Given the description of an element on the screen output the (x, y) to click on. 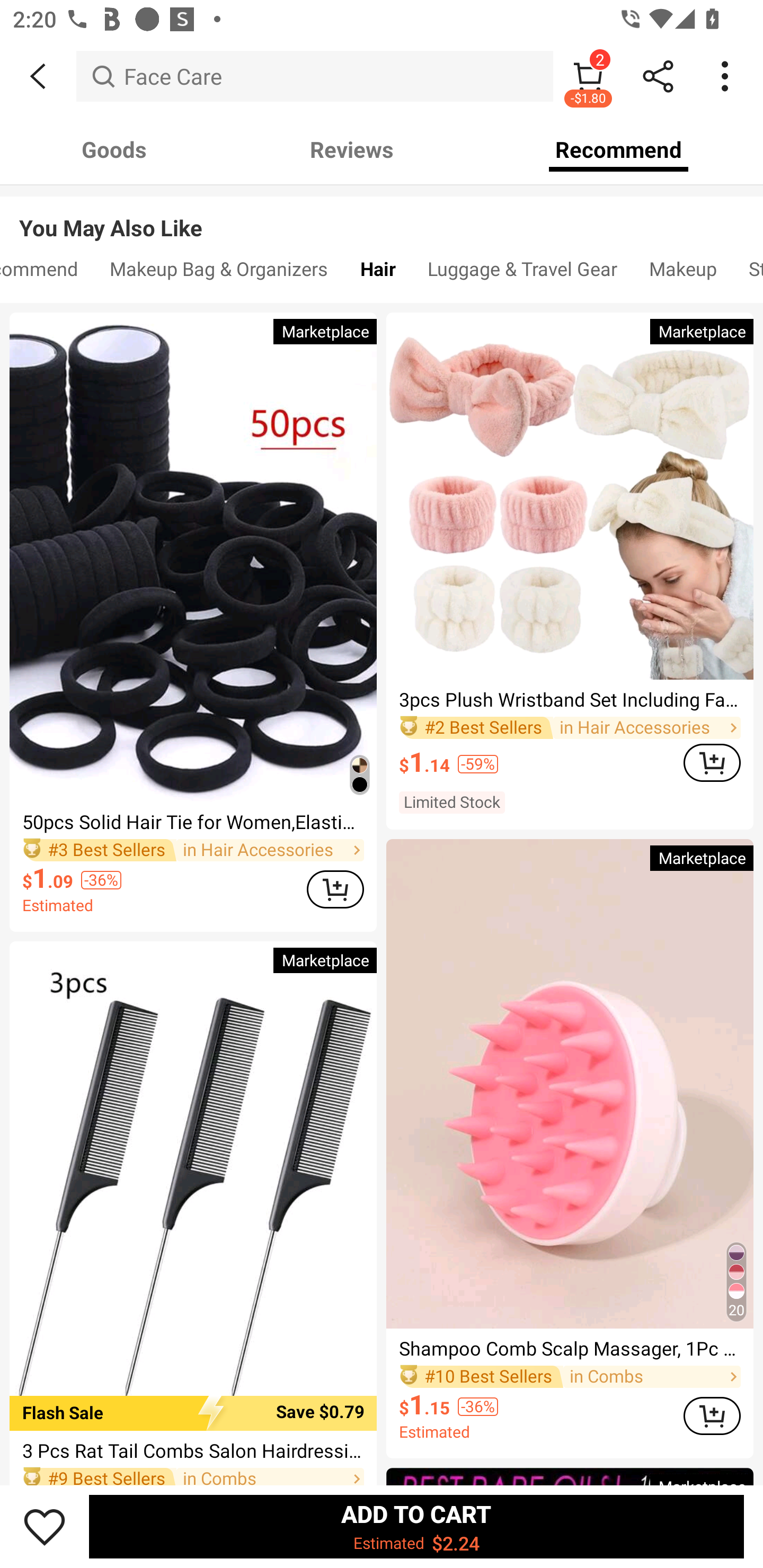
BACK (38, 75)
2 -$1.80 (588, 75)
Face Care (314, 75)
Goods (114, 149)
Reviews (351, 149)
Recommend (618, 149)
You May Also Like (381, 214)
Recommend (46, 273)
Makeup Bag & Organizers (218, 273)
Hair (378, 273)
Luggage & Travel Gear (522, 273)
Makeup (682, 273)
#2 Best Sellers in Hair Accessories (569, 727)
ADD TO CART (711, 762)
#3 Best Sellers in Hair Accessories (192, 849)
ADD TO CART (334, 888)
#10 Best Sellers in Combs (569, 1376)
ADD TO CART (711, 1415)
#9 Best Sellers in Combs (192, 1475)
ADD TO CART Estimated   $2.24 (416, 1526)
Save (44, 1526)
